Given the description of an element on the screen output the (x, y) to click on. 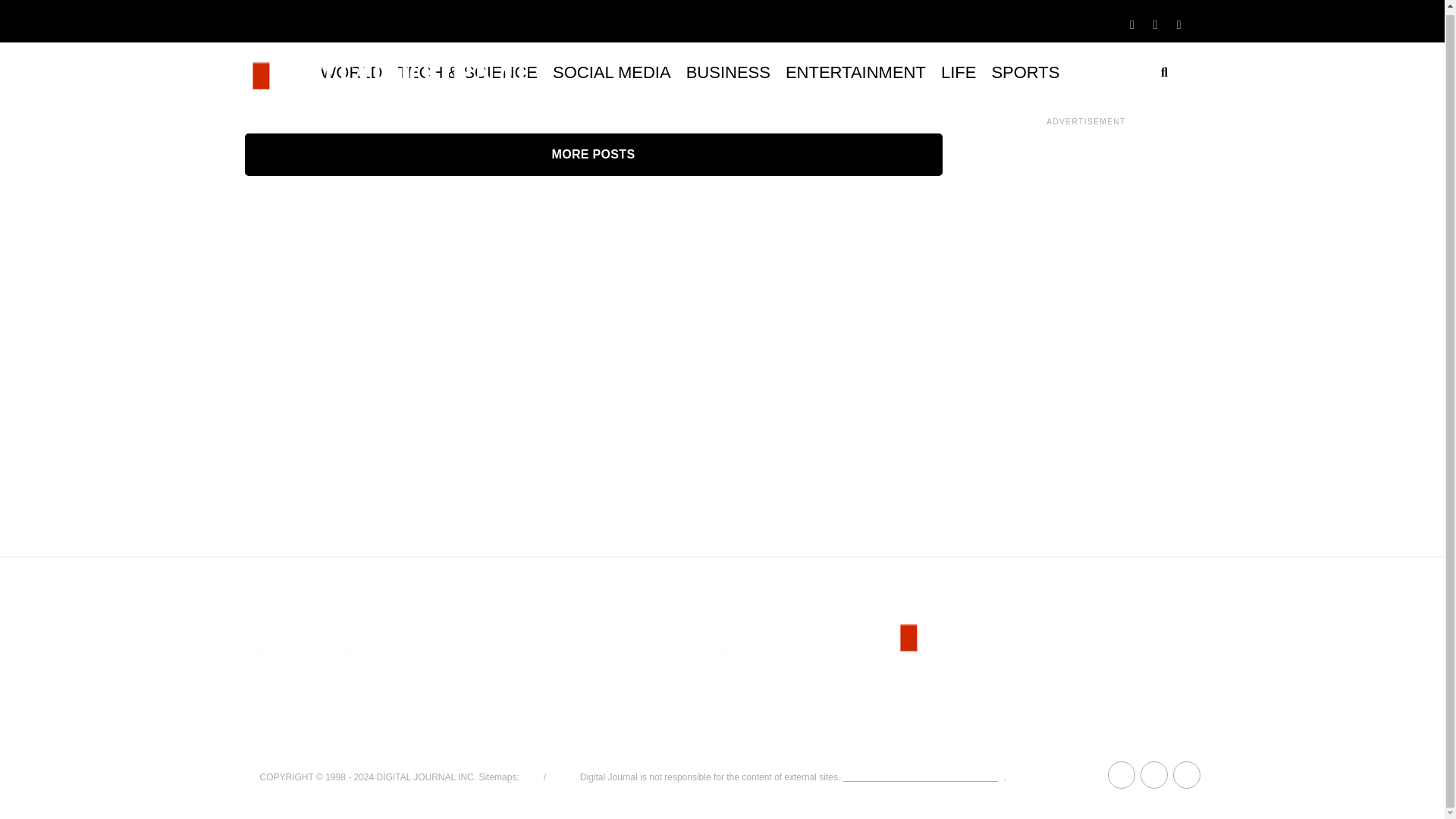
SPONSORED CONTENT (326, 671)
NEWS PARTNER: AFP (638, 671)
BUSINESS (727, 72)
ENTERTAINMENT (855, 72)
SPORTS (1025, 72)
SOCIAL MEDIA (611, 72)
ALL PRESS RELEASES (641, 690)
PRIVACY POLICY (307, 710)
News (560, 776)
WORLD (351, 72)
FEATURED: ACCESSWIRE (651, 631)
FEATURED: PRODIGY PRESS WIRE (677, 651)
XML (530, 776)
ABOUT US (288, 631)
MORE POSTS (593, 154)
